Given the description of an element on the screen output the (x, y) to click on. 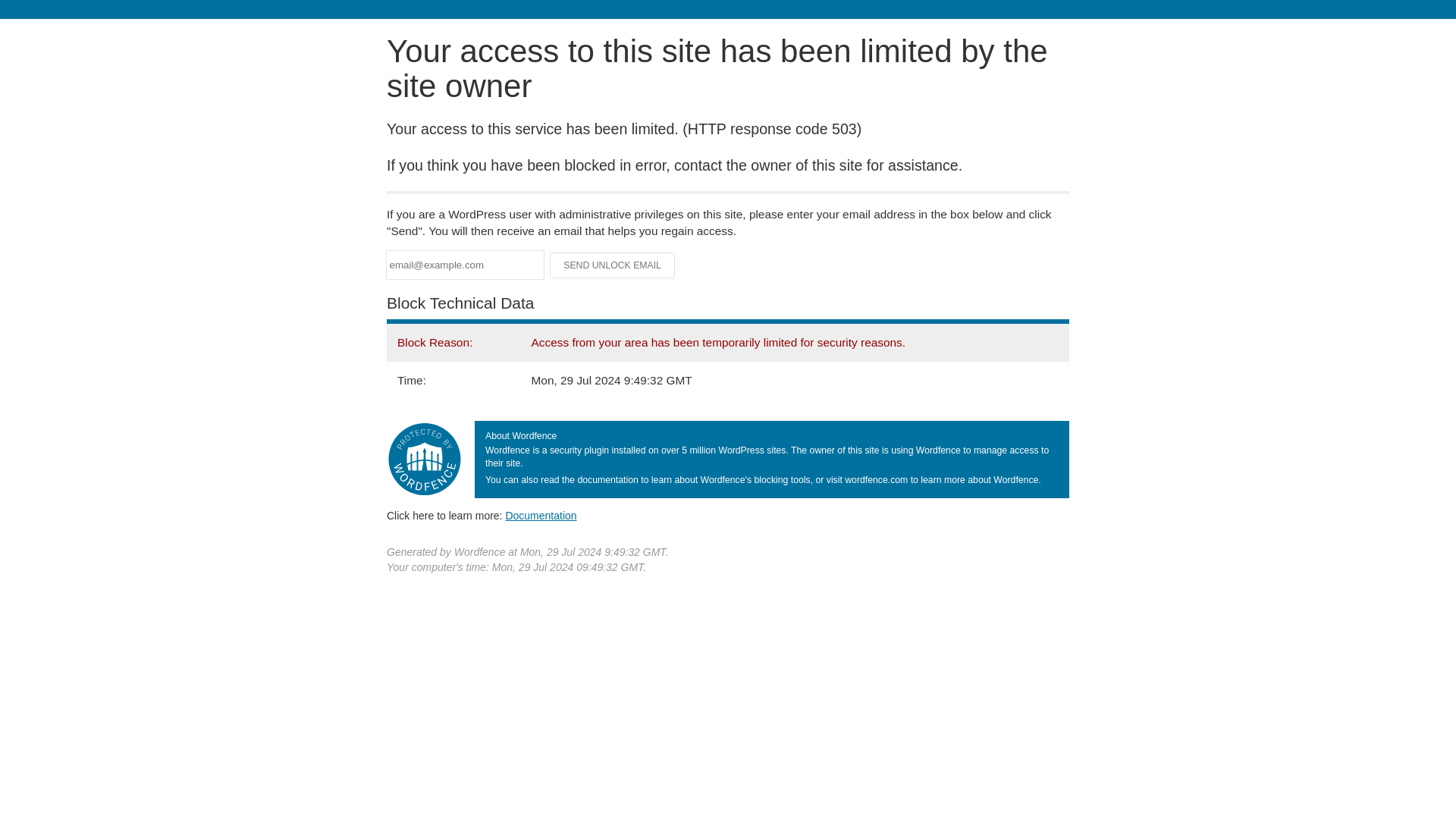
Send Unlock Email (612, 265)
Documentation (540, 515)
Send Unlock Email (612, 265)
